Given the description of an element on the screen output the (x, y) to click on. 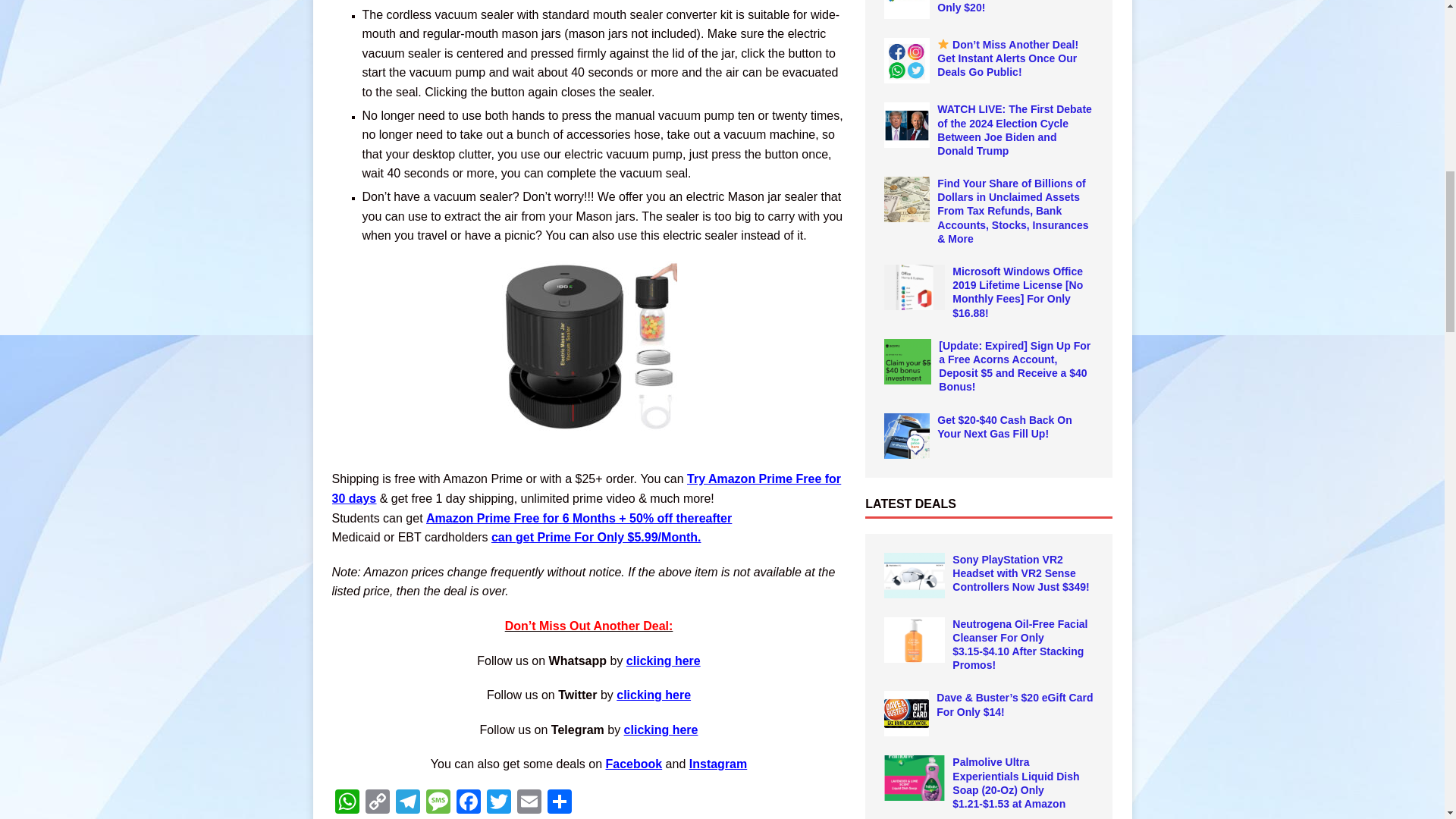
Message (437, 803)
Facebook (467, 803)
Twitter (498, 803)
Email (528, 803)
Copy Link (377, 803)
Telegram (408, 803)
WhatsApp (346, 803)
